Given the description of an element on the screen output the (x, y) to click on. 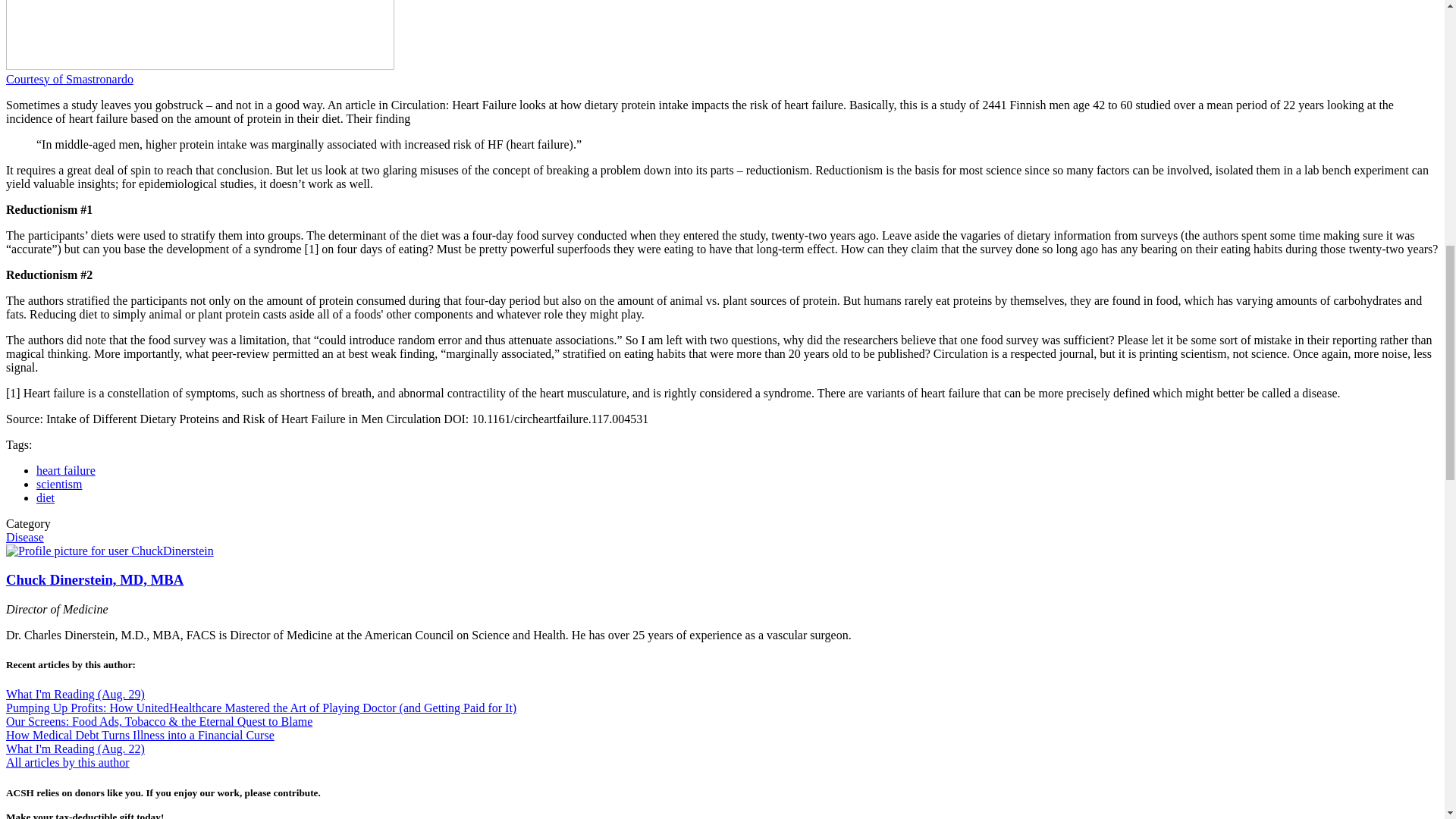
diet (45, 497)
scientism (58, 483)
Disease (24, 536)
Chuck Dinerstein, MD, MBA (94, 579)
Courtesy of Smastronardo (69, 78)
heart failure (66, 470)
